Given the description of an element on the screen output the (x, y) to click on. 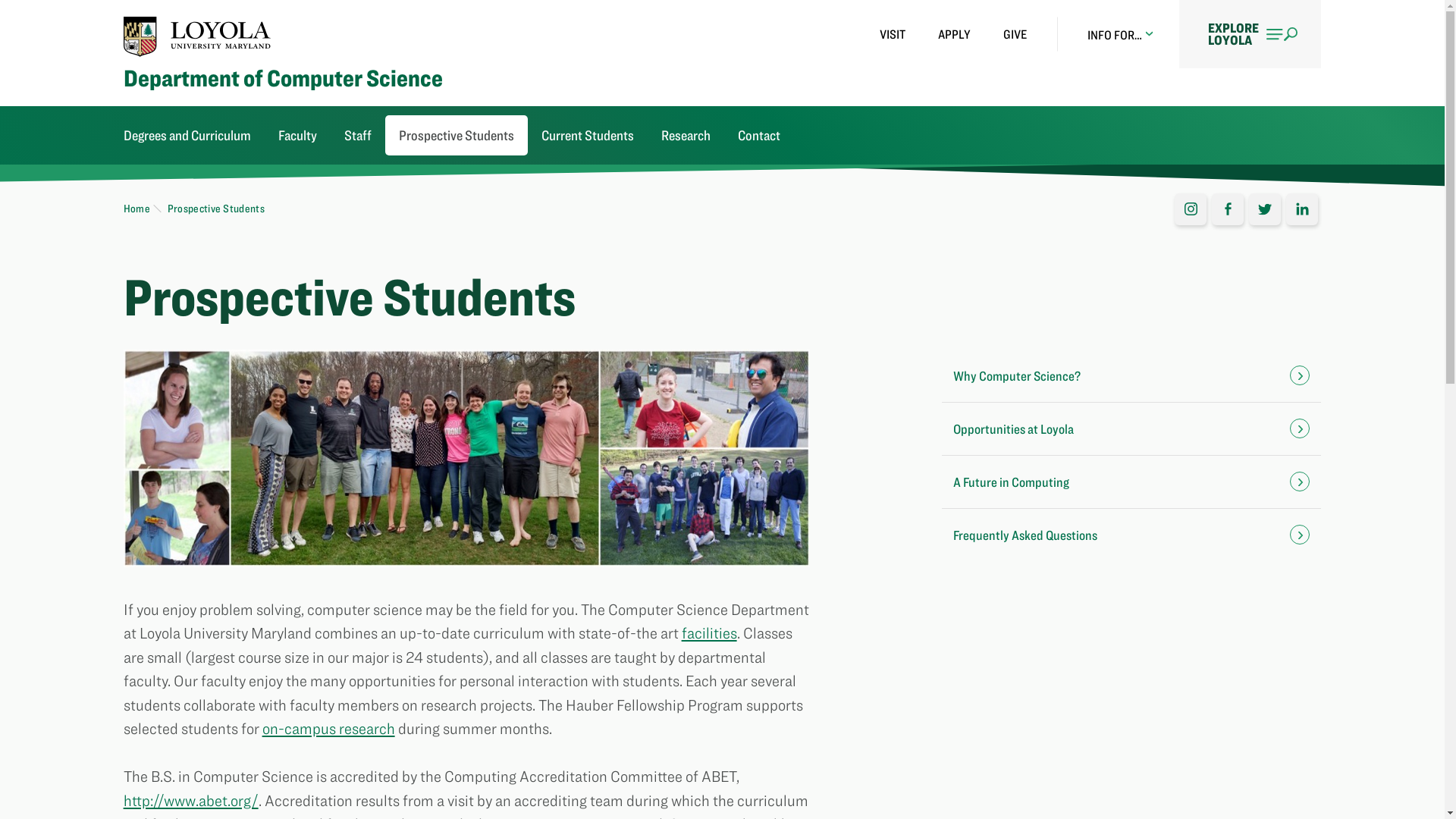
Logo (196, 35)
GIVE (1015, 34)
APPLY (954, 34)
EXPLORE LOYOLA (1249, 33)
VISIT (892, 34)
